Given the description of an element on the screen output the (x, y) to click on. 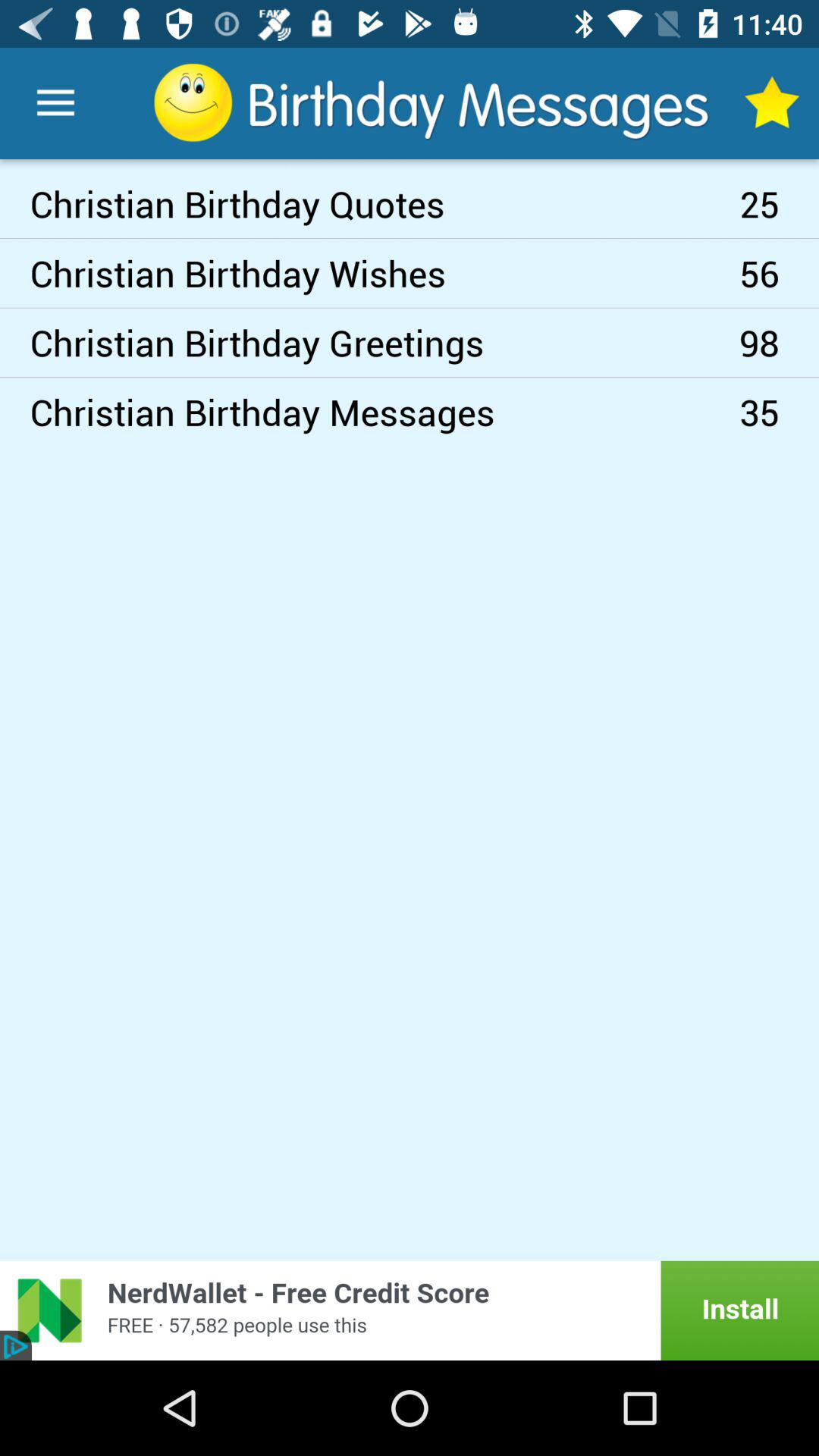
tap icon to the right of christian birthday greetings icon (779, 272)
